Given the description of an element on the screen output the (x, y) to click on. 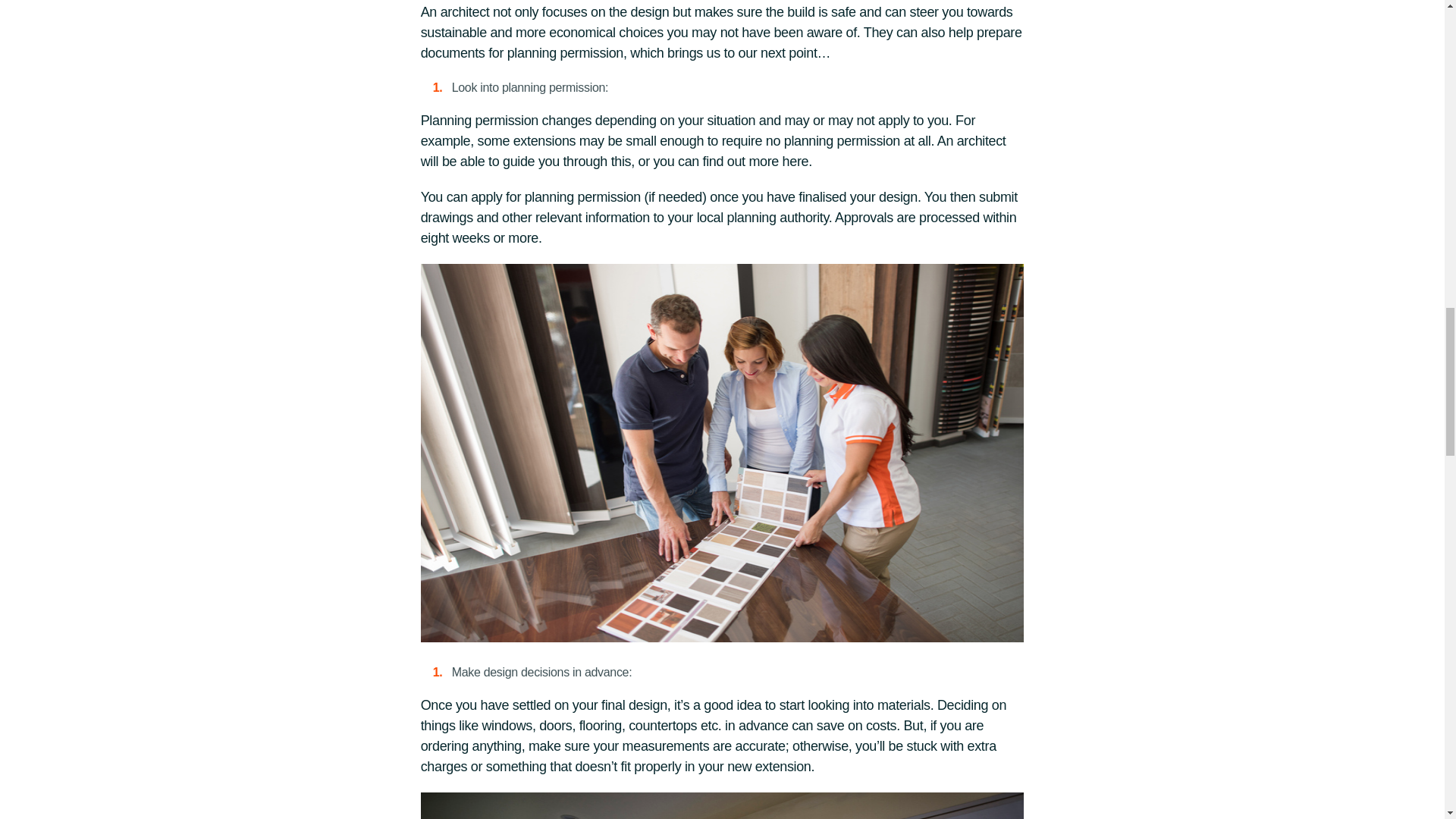
find out more here. (757, 160)
